Given the description of an element on the screen output the (x, y) to click on. 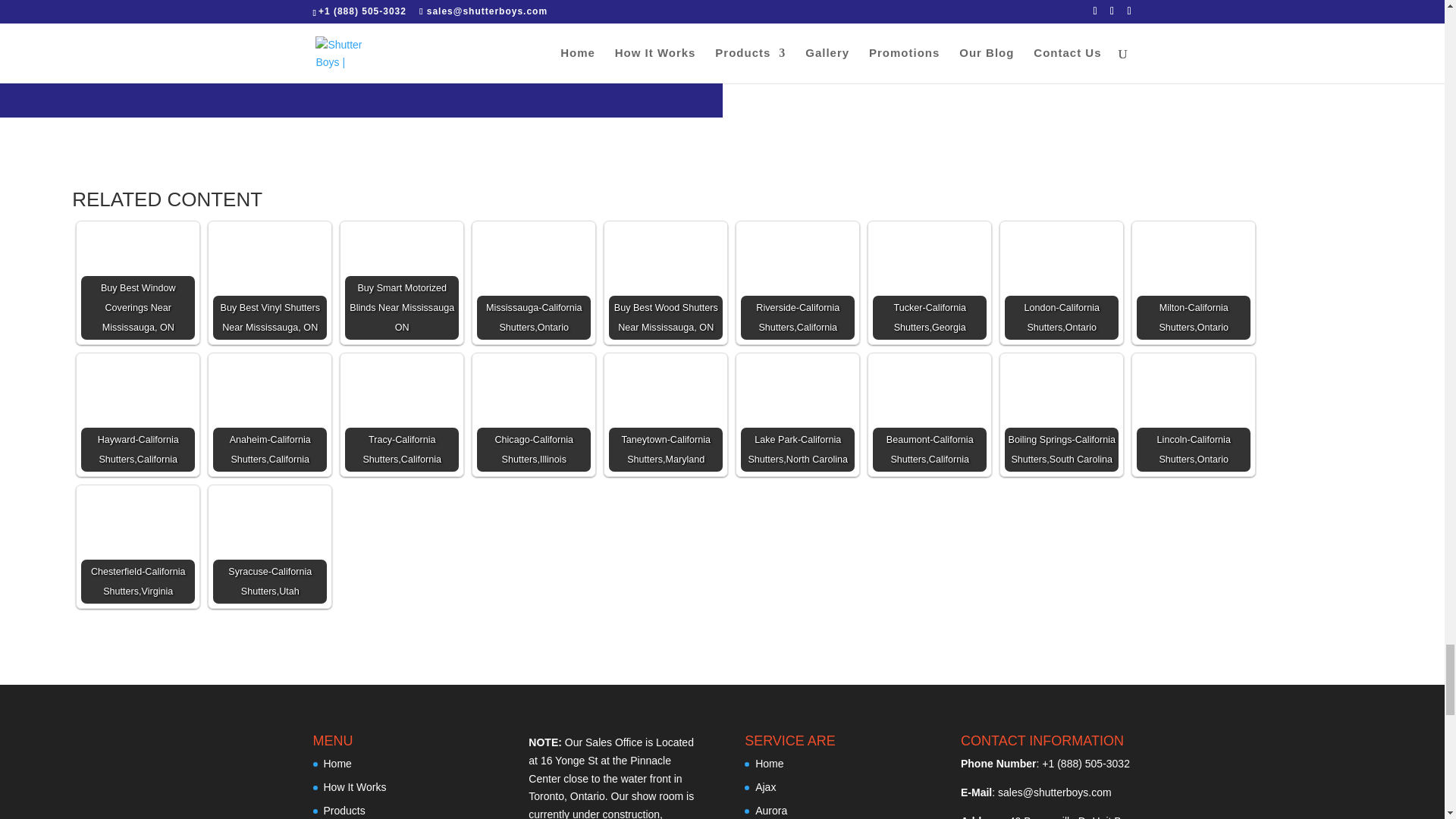
SEND MESSAGE (559, 16)
Buy Smart Motorized Blinds Near Mississauga ON (401, 282)
Buy Best Wood Shutters Near Mississauga, ON (665, 282)
Buy Best Vinyl Shutters Near Mississauga, ON (269, 282)
Buy Best Window Coverings Near Mississauga, ON (138, 282)
Mississauga-California Shutters,Ontario (534, 282)
